Given the description of an element on the screen output the (x, y) to click on. 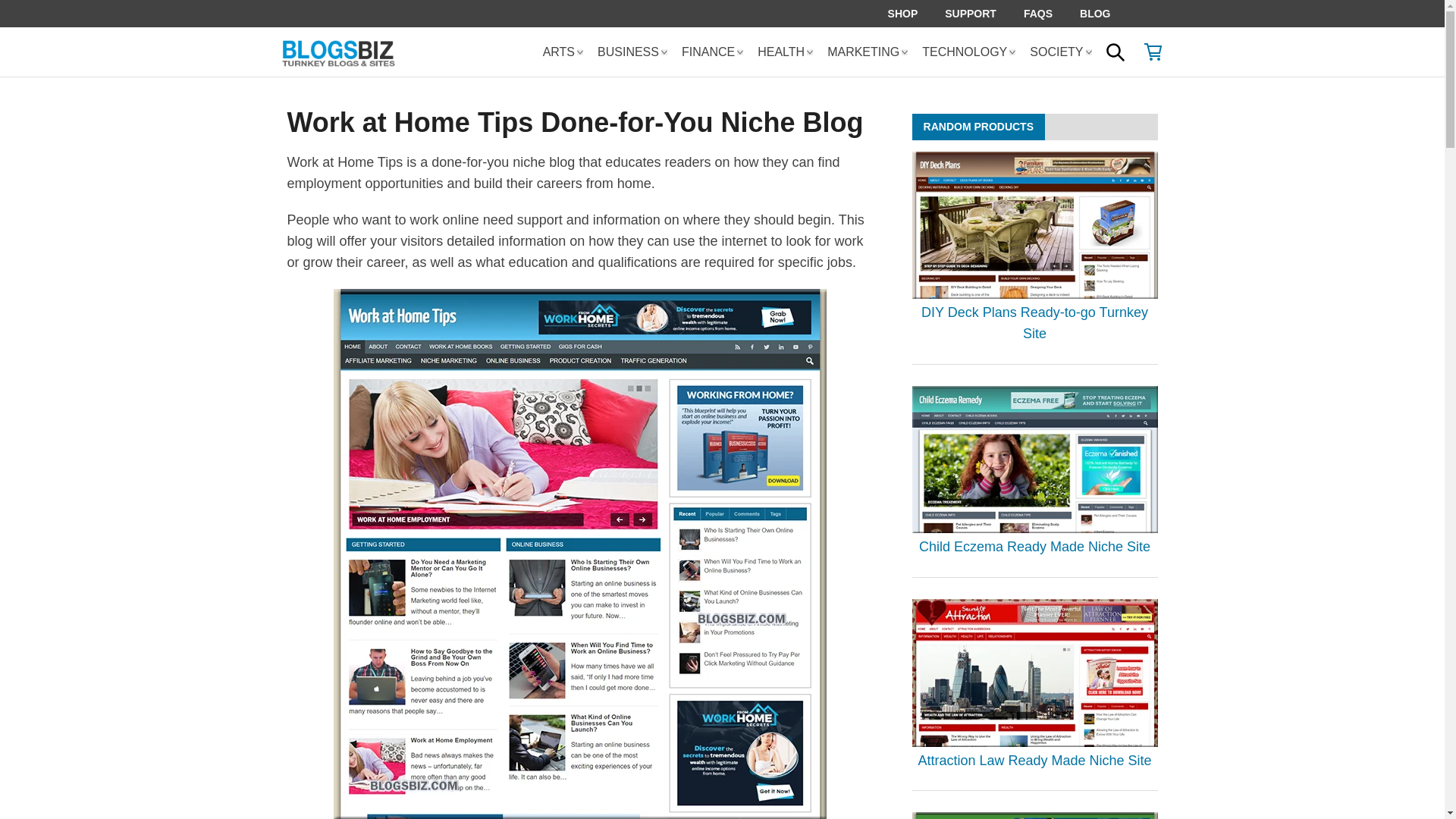
HEALTH (783, 51)
FINANCE (710, 51)
Attraction Law Ready Made Niche Site (1034, 760)
FAQS (1037, 13)
Learn Italian Ready Made Turnkey Site (1034, 815)
Child Eczema Ready Made Niche Site (1034, 547)
DIY Deck Plans Ready-to-go Turnkey Site (1034, 224)
MARKETING (865, 51)
DIY Deck Plans Ready-to-go Turnkey Site (1034, 323)
